Given the description of an element on the screen output the (x, y) to click on. 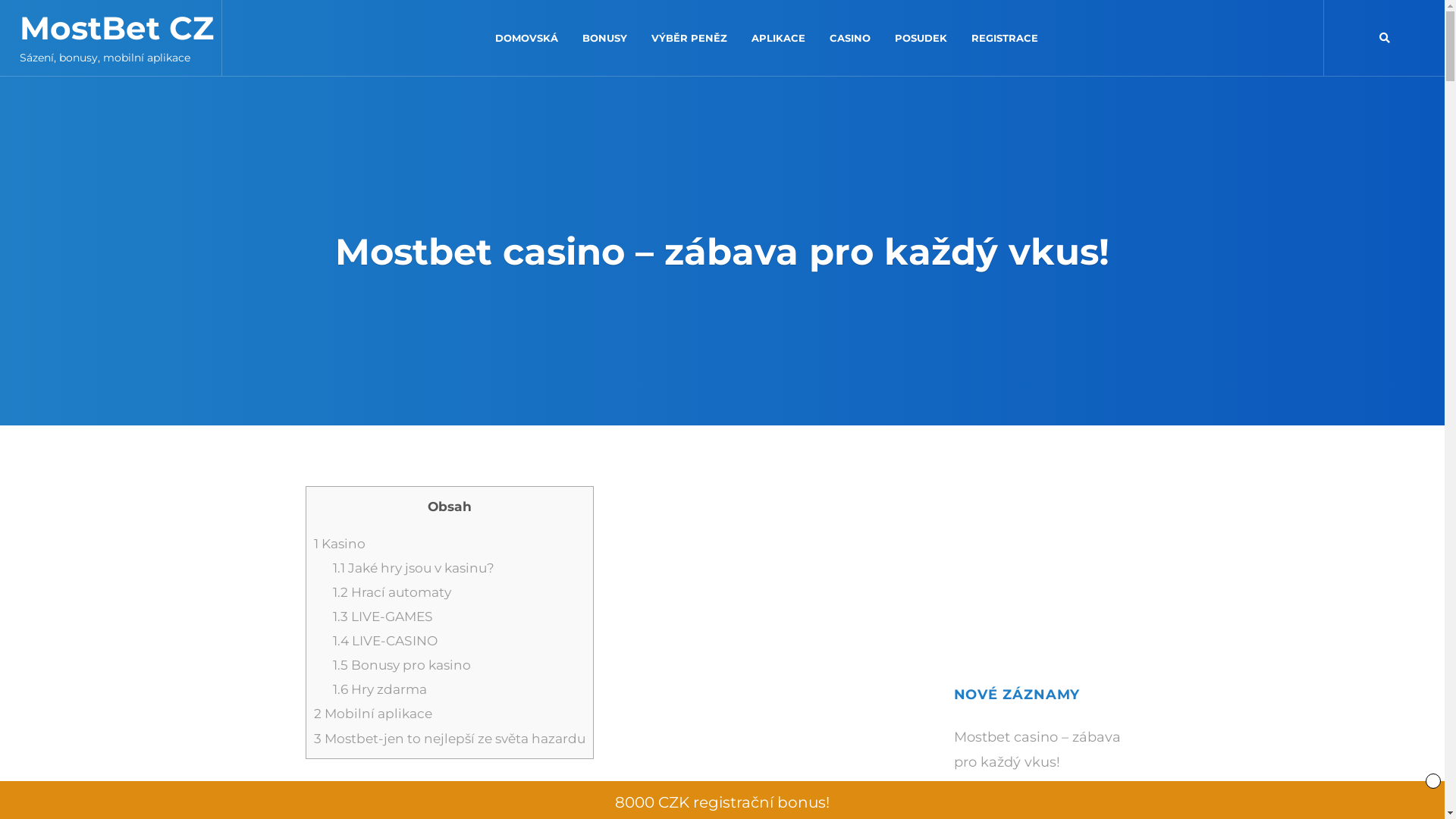
1.3 LIVE-GAMES Element type: text (382, 616)
POSUDEK Element type: text (920, 37)
CASINO Element type: text (849, 37)
BONUSY Element type: text (604, 37)
Search Element type: text (1383, 37)
REGISTRACE Element type: text (1004, 37)
APLIKACE Element type: text (778, 37)
1.4 LIVE-CASINO Element type: text (384, 640)
1.6 Hry zdarma Element type: text (379, 688)
1 Kasino Element type: text (339, 543)
1.5 Bonusy pro kasino Element type: text (401, 664)
MostBet CZ Element type: text (116, 27)
